Given the description of an element on the screen output the (x, y) to click on. 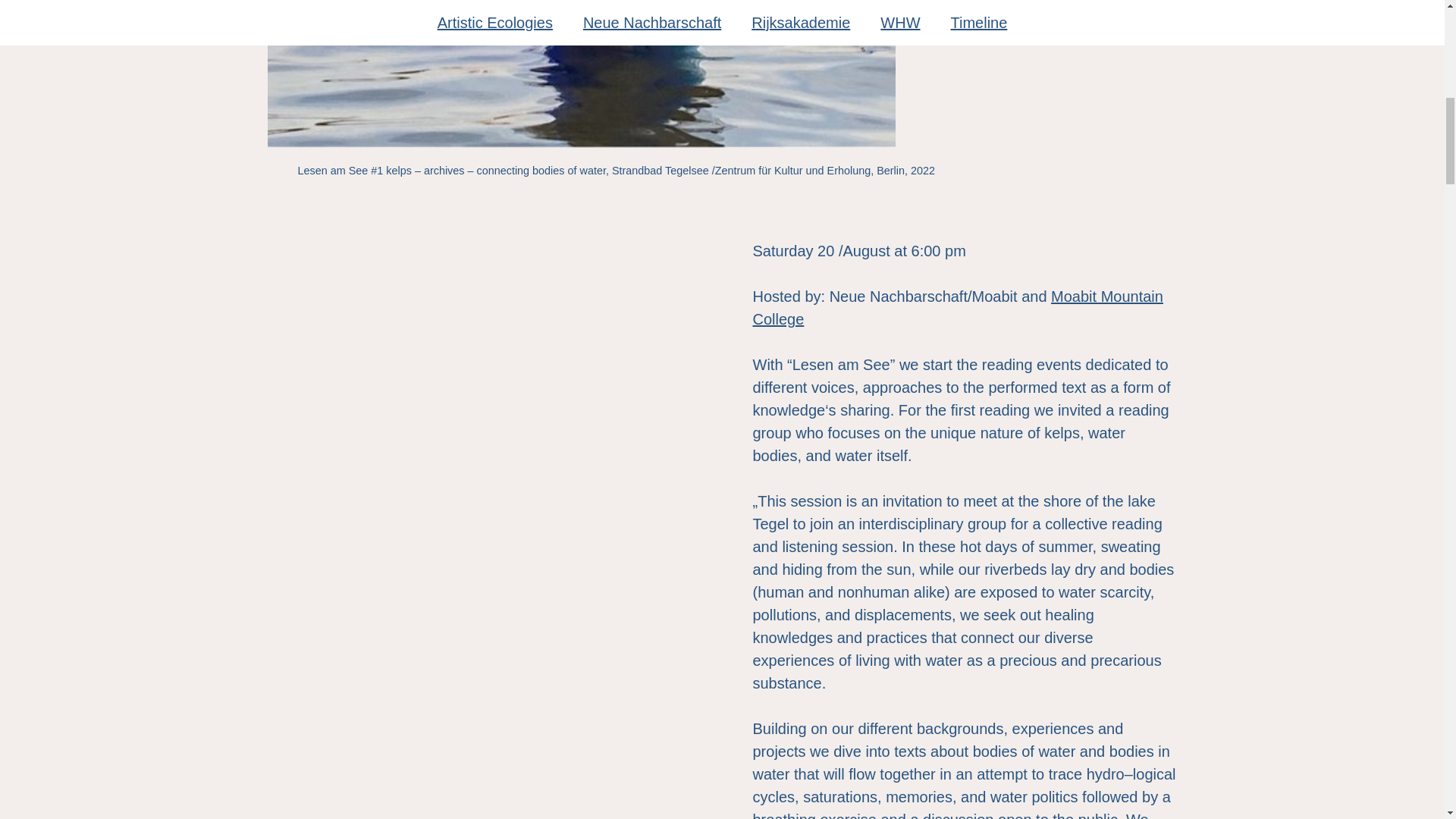
Moabit Mountain College (956, 307)
